Given the description of an element on the screen output the (x, y) to click on. 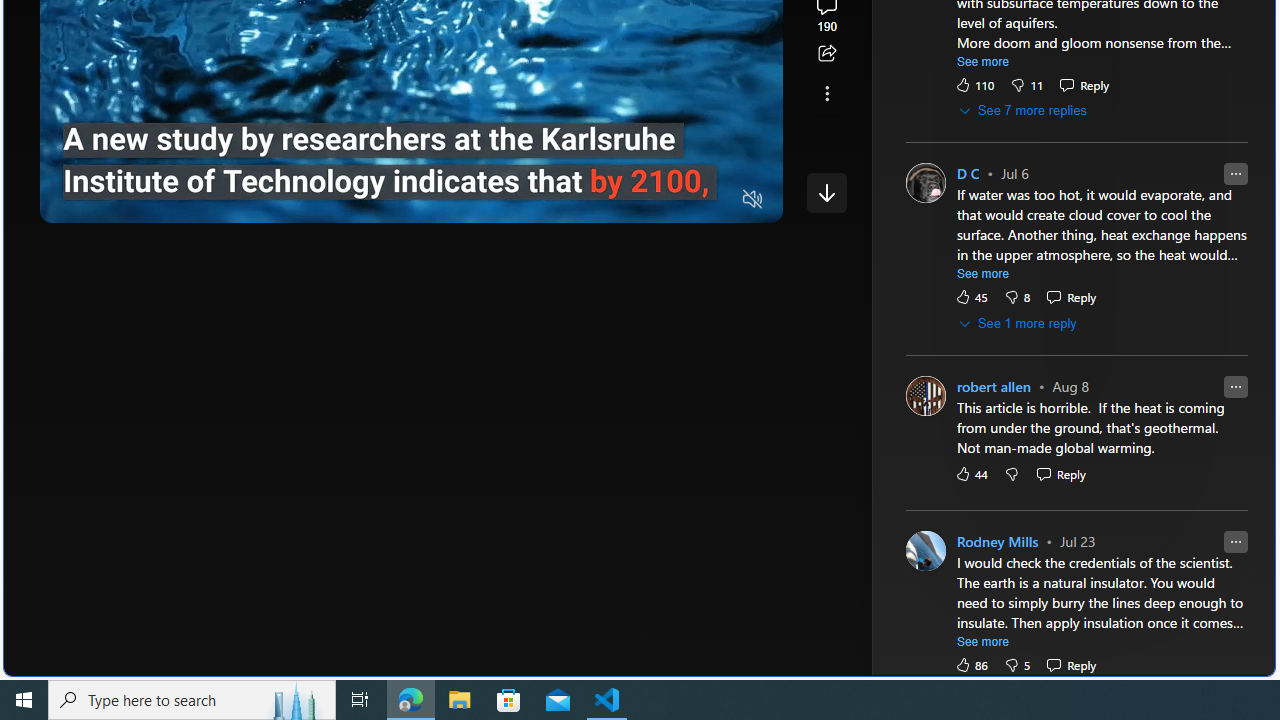
Pause (69, 200)
Seek Forward (150, 200)
110 Like (974, 84)
Class: control (826, 192)
Captions (675, 200)
45 Like (970, 297)
Unmute (753, 200)
Reply Reply Comment (1071, 664)
86 Like (970, 664)
Fullscreen (714, 200)
